Given the description of an element on the screen output the (x, y) to click on. 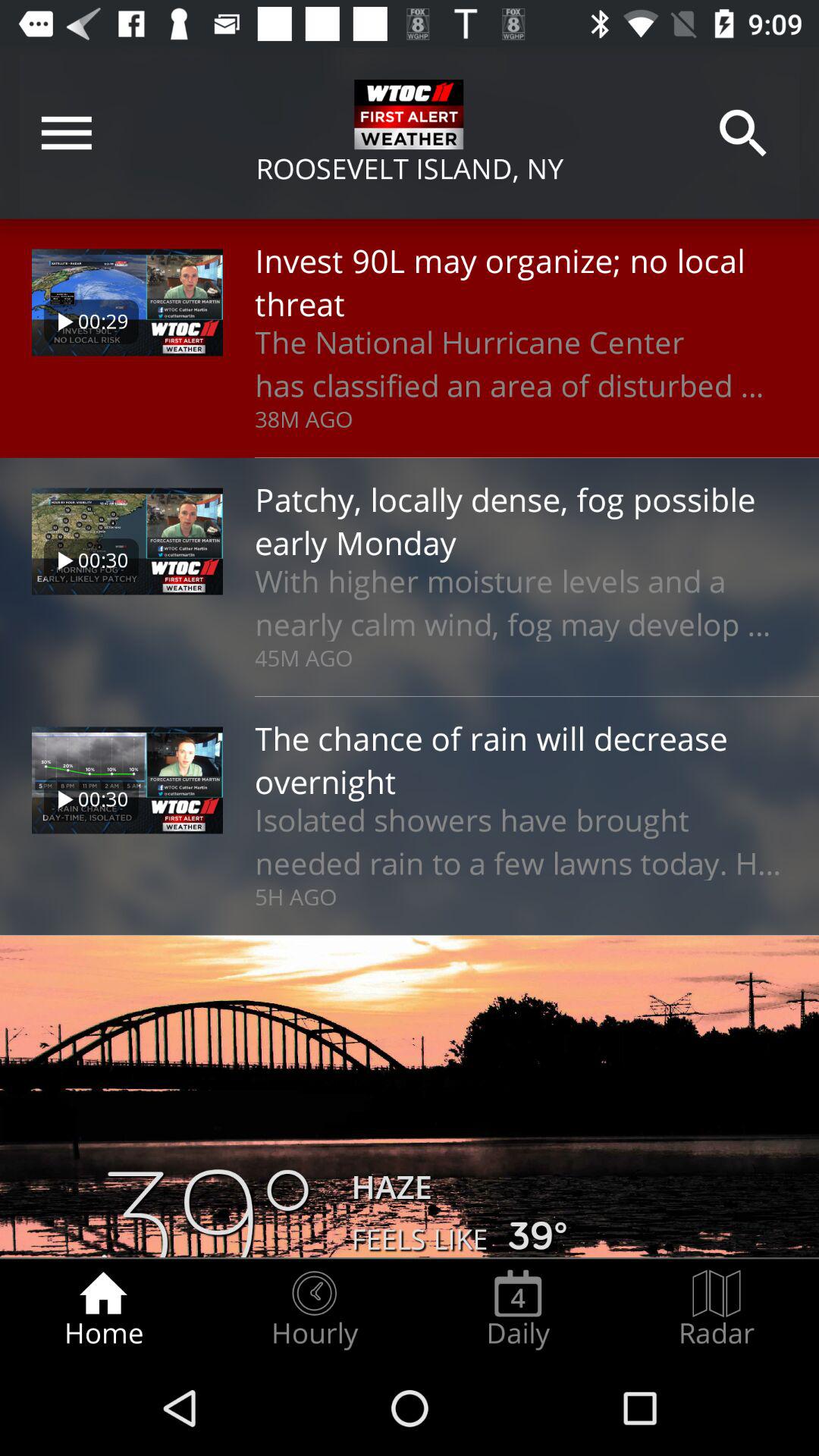
choose daily item (518, 1309)
